Given the description of an element on the screen output the (x, y) to click on. 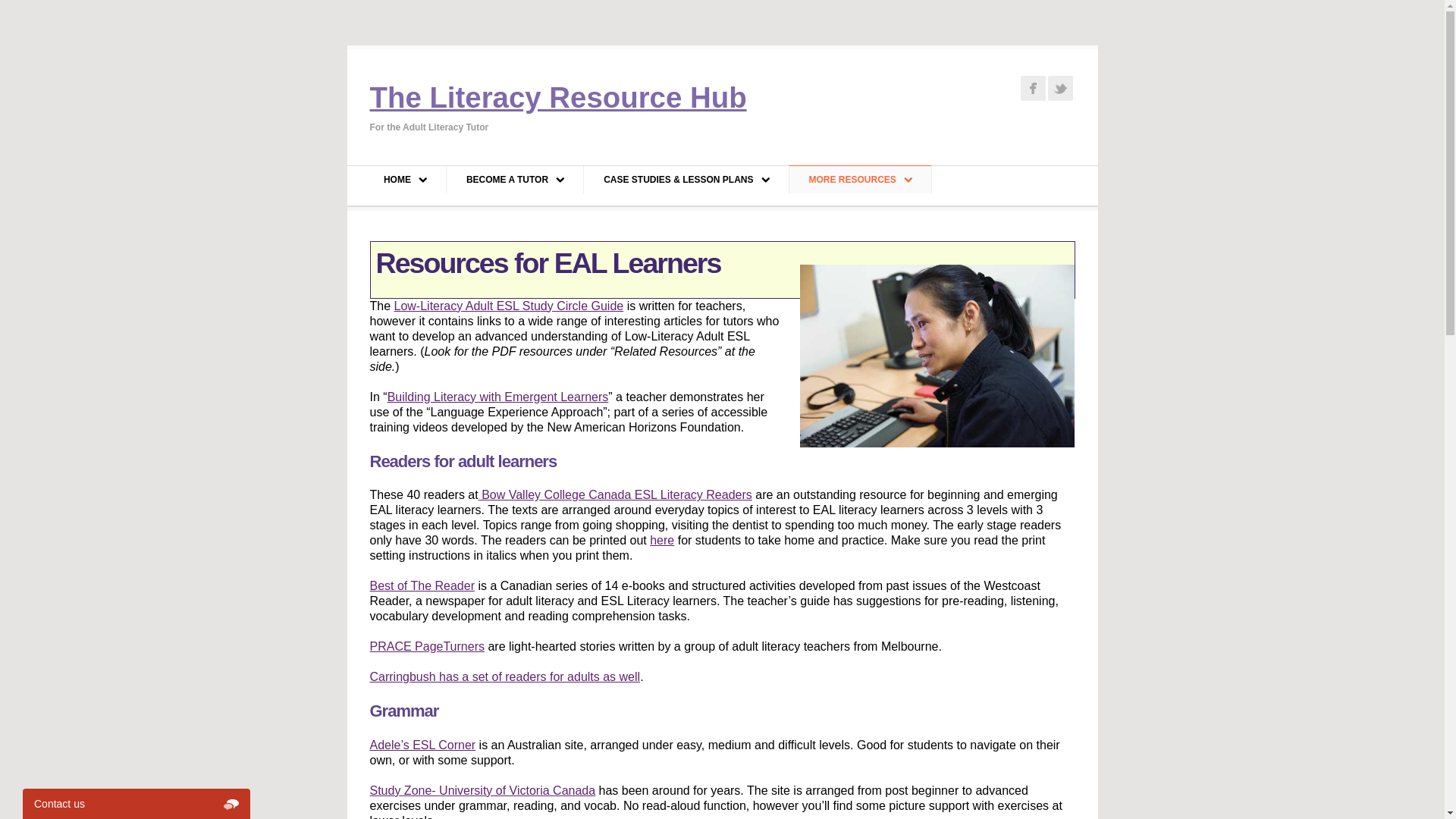
Best of The Reader Element type: text (422, 585)
HOME Element type: text (404, 179)
Building Literacy with Emergent Learners Element type: text (497, 396)
MORE RESOURCES Element type: text (859, 179)
The Literacy Resource Hub Element type: text (558, 97)
Study Zone- University of Victoria Canada Element type: text (483, 790)
Bow Valley College Canada ESL Literacy Readers Element type: text (615, 494)
PRACE PageTurners Element type: text (427, 646)
Carringbush has a set of readers for adults as well Element type: text (505, 676)
CASE STUDIES & LESSON PLANS Element type: text (685, 179)
Low-Literacy Adult ESL Study Circle Guide Element type: text (509, 305)
here Element type: text (661, 539)
BECOME A TUTOR Element type: text (514, 179)
